Given the description of an element on the screen output the (x, y) to click on. 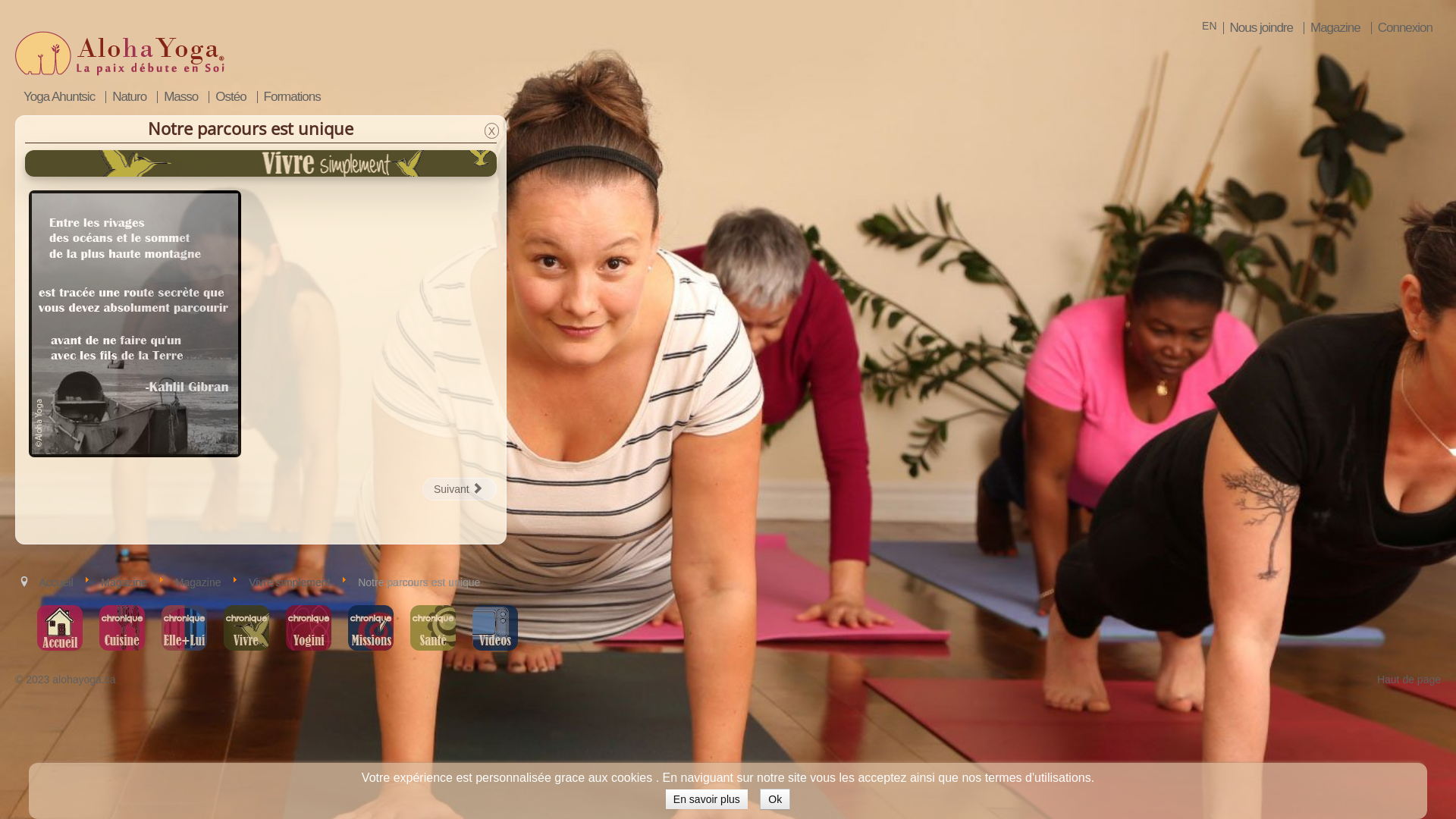
X Element type: text (491, 130)
Formations Element type: text (291, 97)
Accueil Element type: hover (59, 627)
Accueil Element type: text (55, 582)
Nous joindre Element type: text (1261, 27)
Ok Element type: text (774, 798)
EN Element type: text (1208, 25)
Vivre simplement Element type: text (288, 582)
Magazine Element type: text (123, 582)
Connexion Element type: text (1404, 27)
Yoga Ahuntsic Element type: text (58, 97)
Naturo Element type: text (128, 97)
Masso Element type: text (179, 97)
Suivant Element type: text (459, 488)
Magazine Element type: text (198, 582)
Haut de page Element type: text (1408, 679)
En savoir plus Element type: text (706, 799)
Magazine Element type: text (1334, 27)
